Given the description of an element on the screen output the (x, y) to click on. 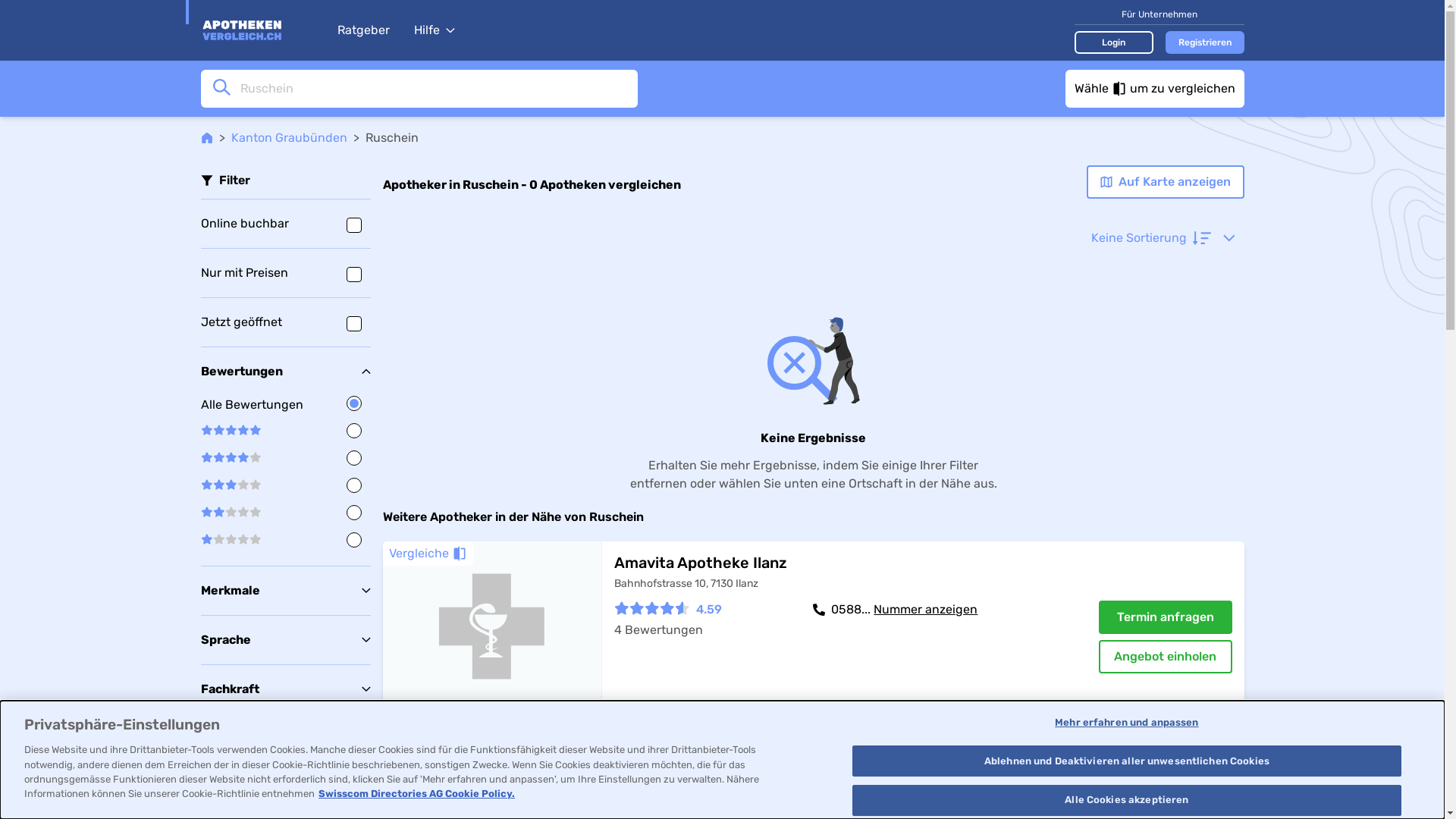
Mehr erfahren und anpassen Element type: text (1126, 722)
Hilfe Element type: text (434, 30)
Registrieren Element type: text (1203, 41)
Zur Startseite Element type: hover (260, 30)
Alle Cookies akzeptieren Element type: text (1126, 799)
Ablehnen und Deaktivieren aller unwesentlichen Cookies Element type: text (1126, 761)
Keine Sortierung Element type: text (1162, 237)
Auf Karte anzeigen Element type: text (1164, 181)
Ratgeber Element type: text (362, 30)
Swisscom Directories AG Cookie Policy. Element type: text (416, 793)
Termin anfragen Element type: text (1164, 616)
Login Element type: text (1112, 41)
Angebot einholen Element type: text (1164, 656)
Nur mit Preisen Element type: text (285, 272)
Vergleiche Element type: text (427, 553)
Vergleiche Element type: text (427, 738)
Online buchbar Element type: text (285, 223)
